Given the description of an element on the screen output the (x, y) to click on. 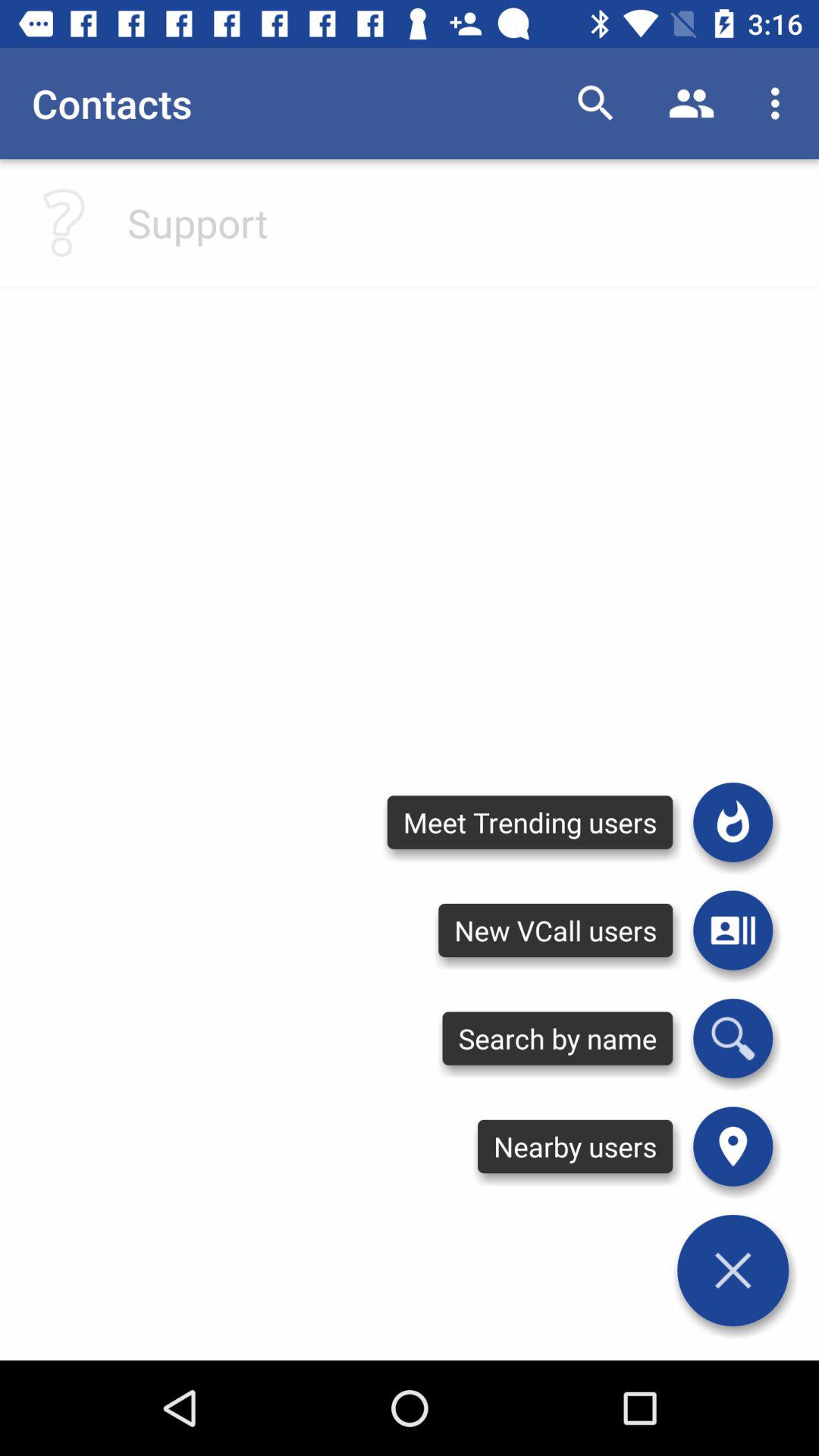
launch icon to the right of meet trending users icon (733, 930)
